Given the description of an element on the screen output the (x, y) to click on. 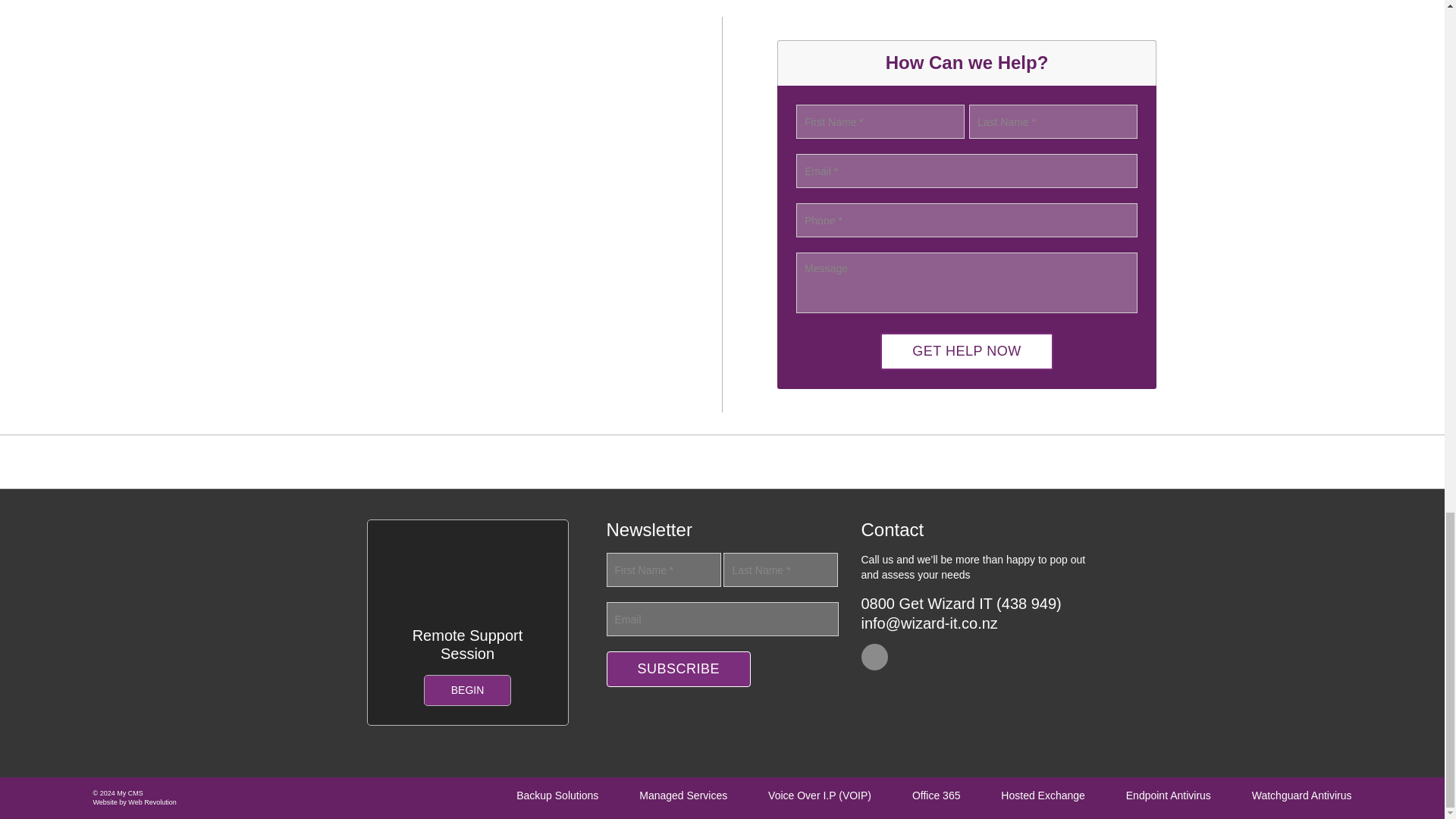
SUBSCRIBE (679, 669)
GET HELP NOW (966, 351)
